Given the description of an element on the screen output the (x, y) to click on. 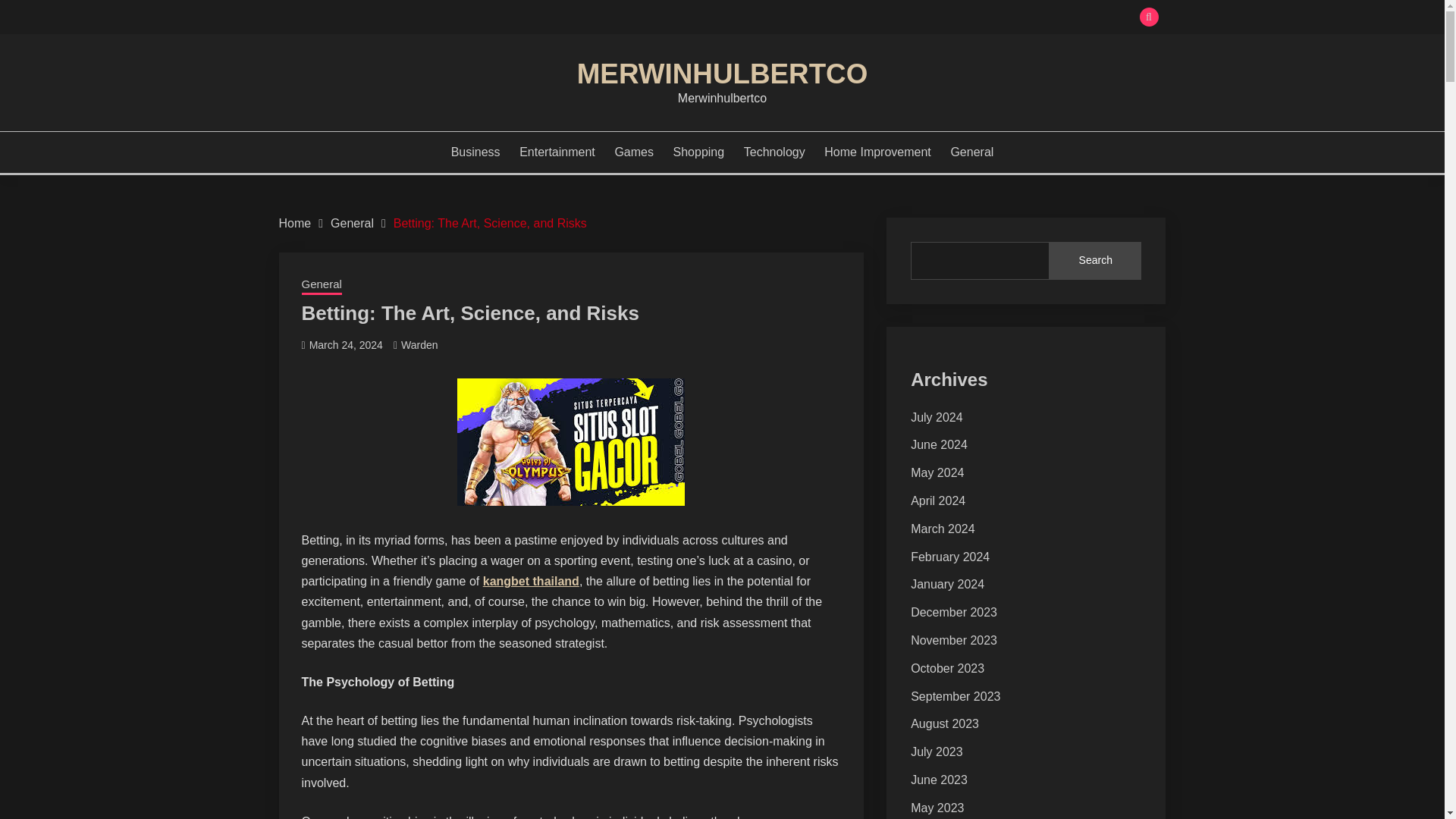
MERWINHULBERTCO (721, 73)
Warden (419, 345)
kangbet thailand (531, 581)
Search (1095, 260)
Search (832, 18)
Business (475, 152)
General (971, 152)
Entertainment (557, 152)
July 2024 (936, 417)
Betting: The Art, Science, and Risks (489, 223)
May 2024 (937, 472)
April 2024 (938, 500)
Home (295, 223)
June 2024 (939, 444)
Home Improvement (877, 152)
